Given the description of an element on the screen output the (x, y) to click on. 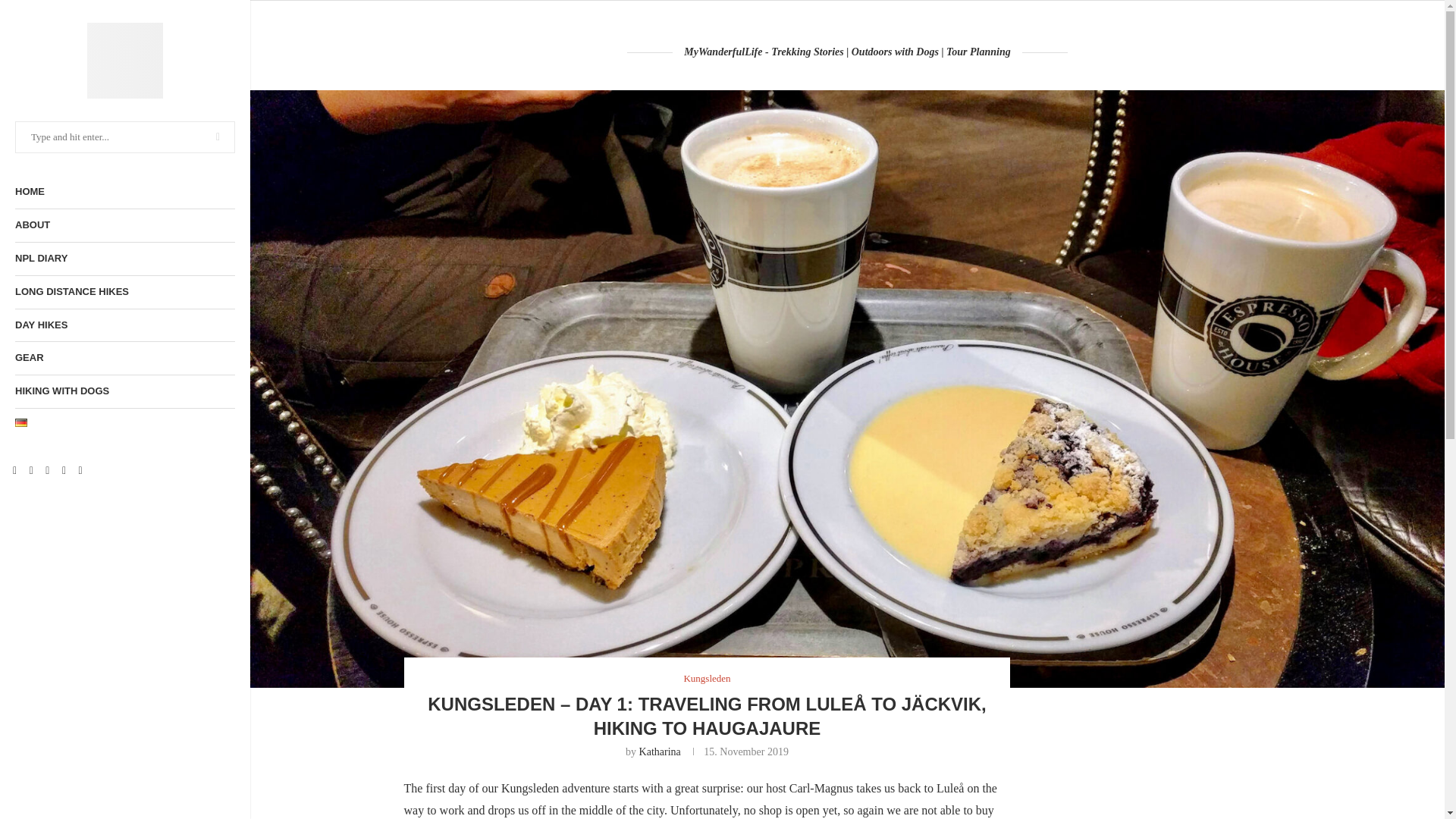
ABOUT (124, 225)
DAY HIKES (124, 325)
NPL DIARY (124, 258)
HIKING WITH DOGS (124, 391)
LONG DISTANCE HIKES (124, 292)
HOME (124, 192)
Katharina (660, 751)
Kungsleden (706, 677)
GEAR (124, 358)
